Given the description of an element on the screen output the (x, y) to click on. 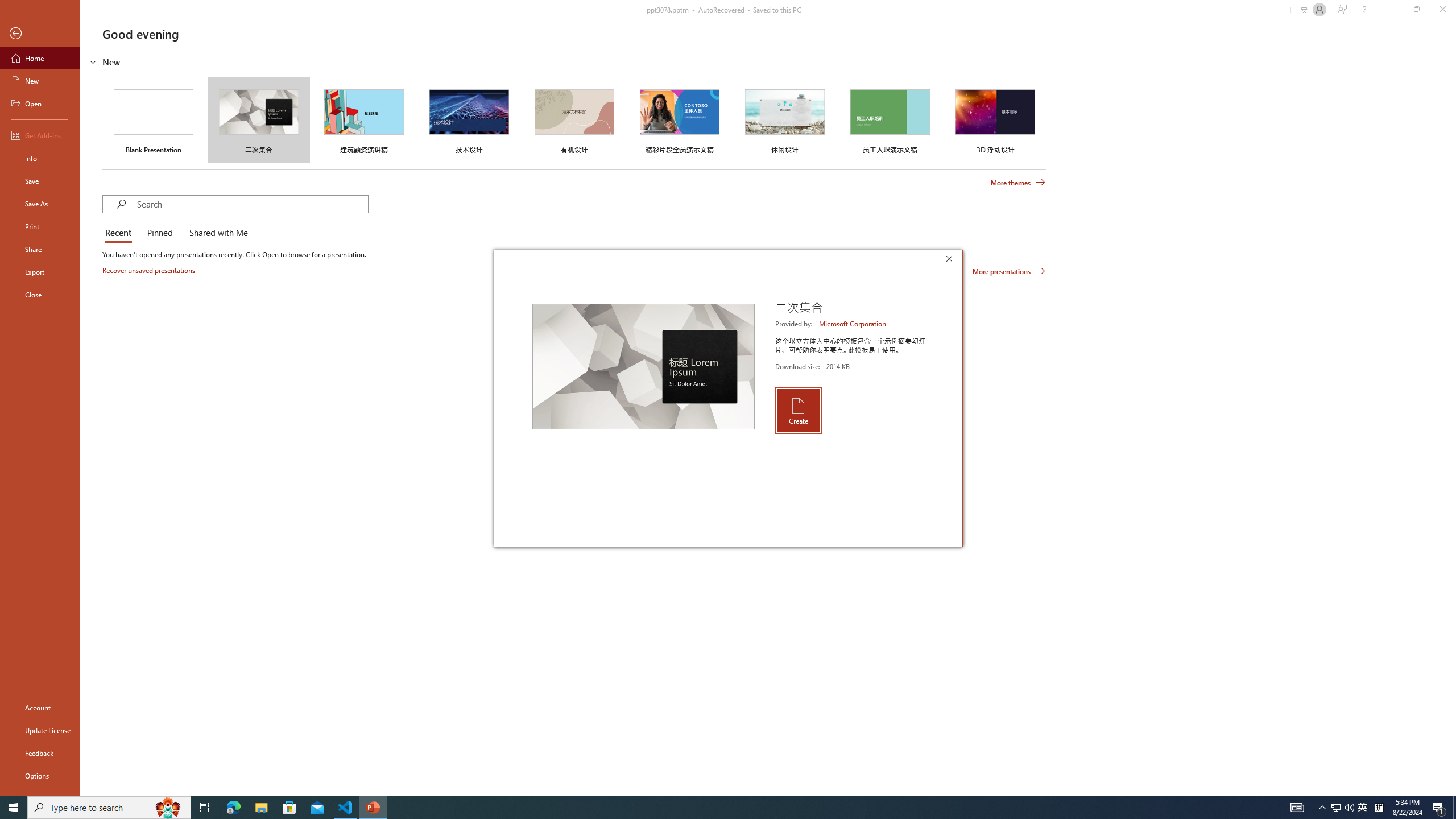
More themes (1018, 182)
Pinned (159, 233)
Recent (119, 233)
Print (40, 225)
Recover unsaved presentations (149, 270)
Microsoft Corporation (853, 323)
